Given the description of an element on the screen output the (x, y) to click on. 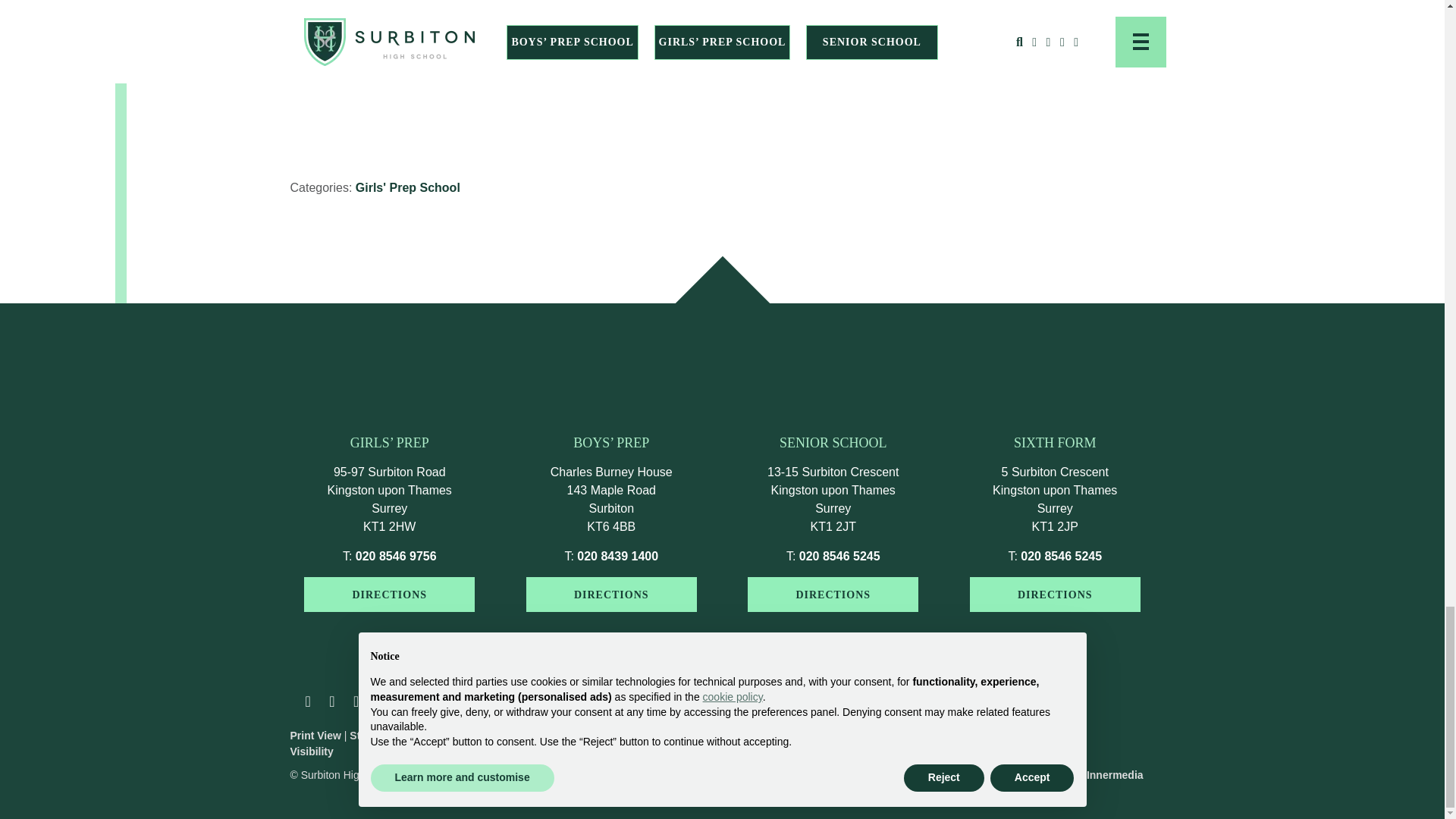
Switch to Standard Visibility (385, 735)
Switch to Print (314, 735)
Switch to High Visibility (371, 743)
